Given the description of an element on the screen output the (x, y) to click on. 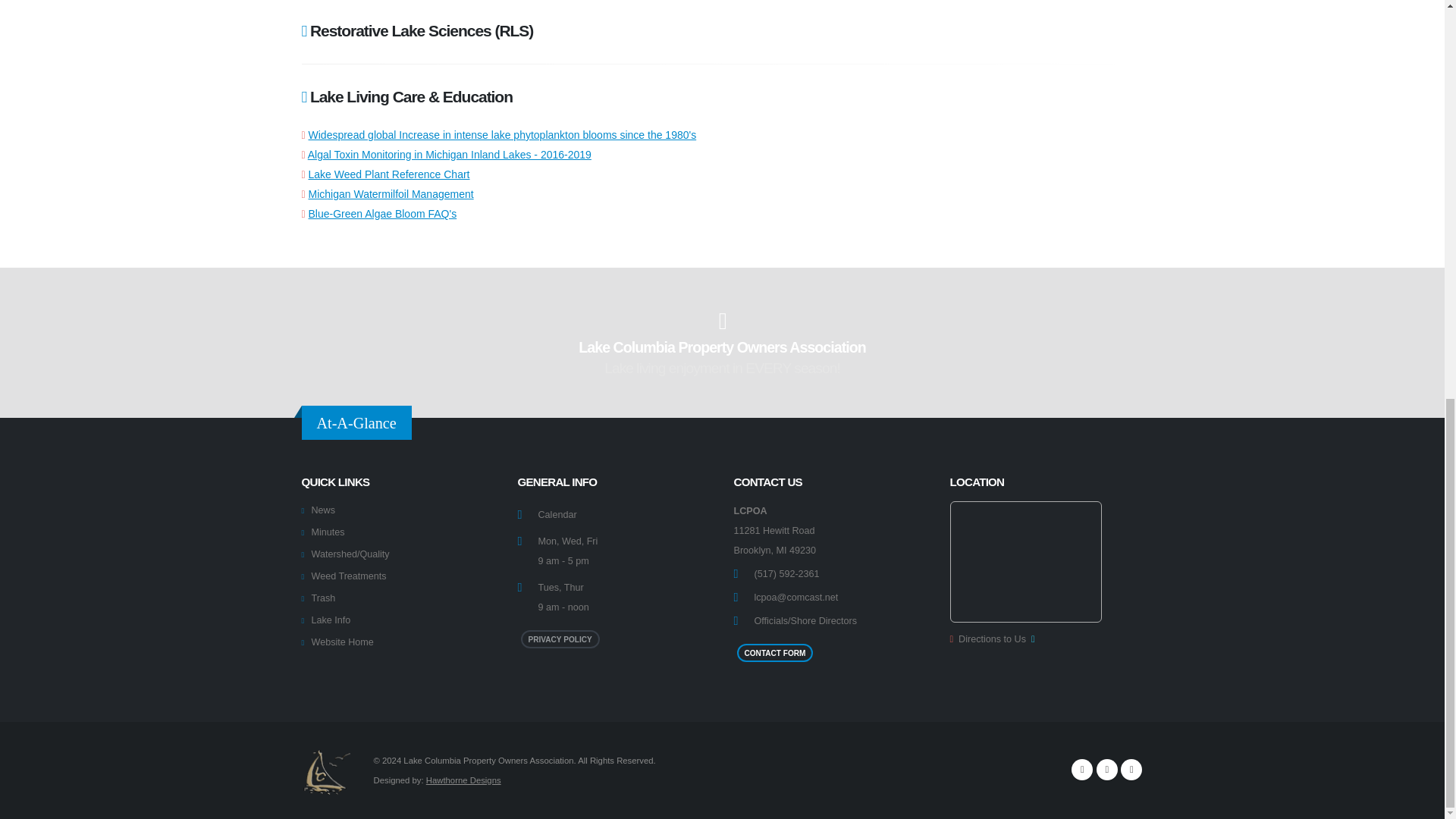
Newsletters (1107, 769)
Calendar (1082, 769)
Facebook (1131, 769)
